Given the description of an element on the screen output the (x, y) to click on. 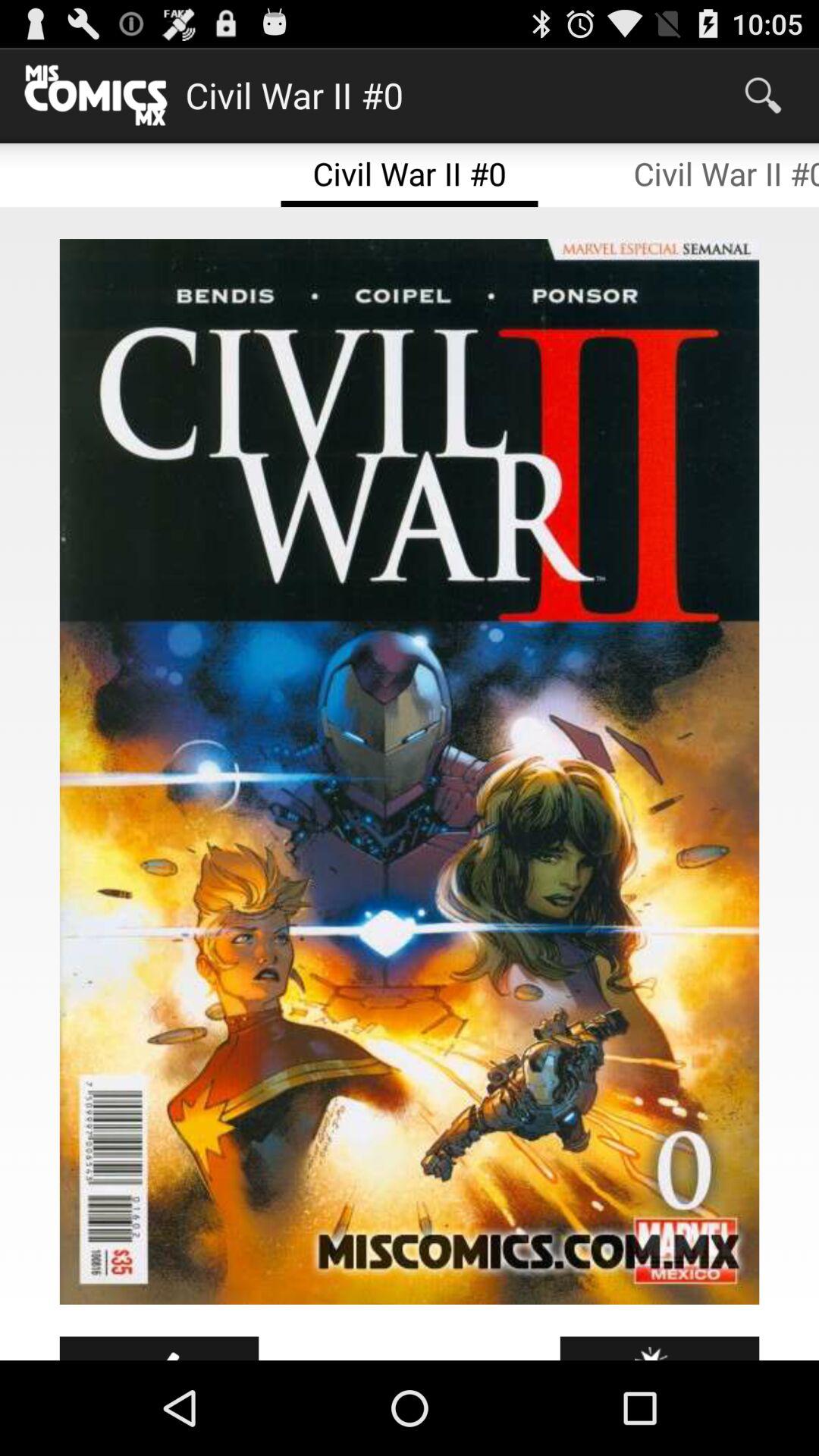
launch the icon above civil war ii app (763, 95)
